Given the description of an element on the screen output the (x, y) to click on. 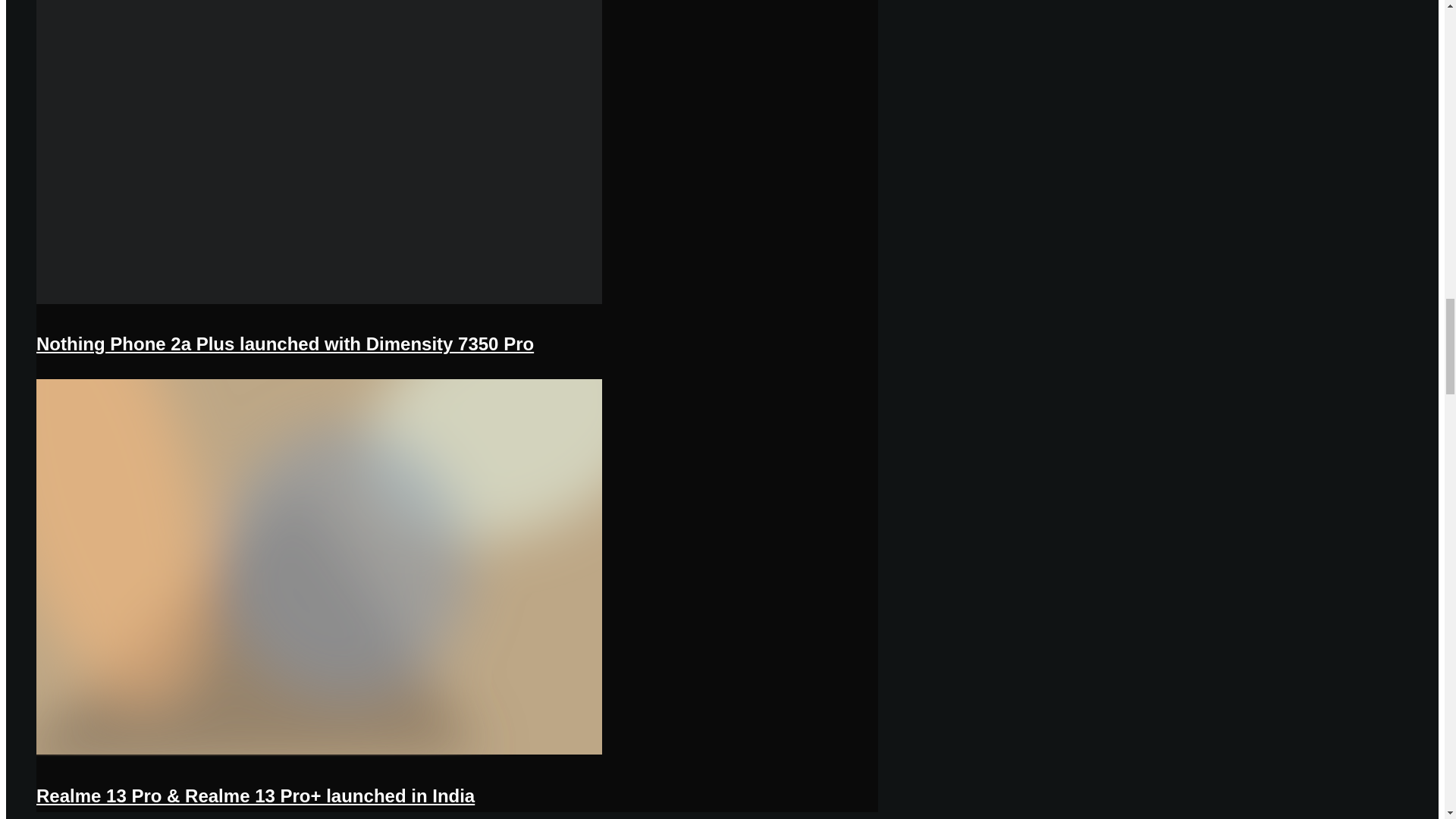
Nothing Phone 2a Plus launched with Dimensity 7350 Pro (285, 343)
Realme 13 Pro Design 1 (319, 752)
Nothing Phone 2a Plus Design 1 (319, 300)
